Given the description of an element on the screen output the (x, y) to click on. 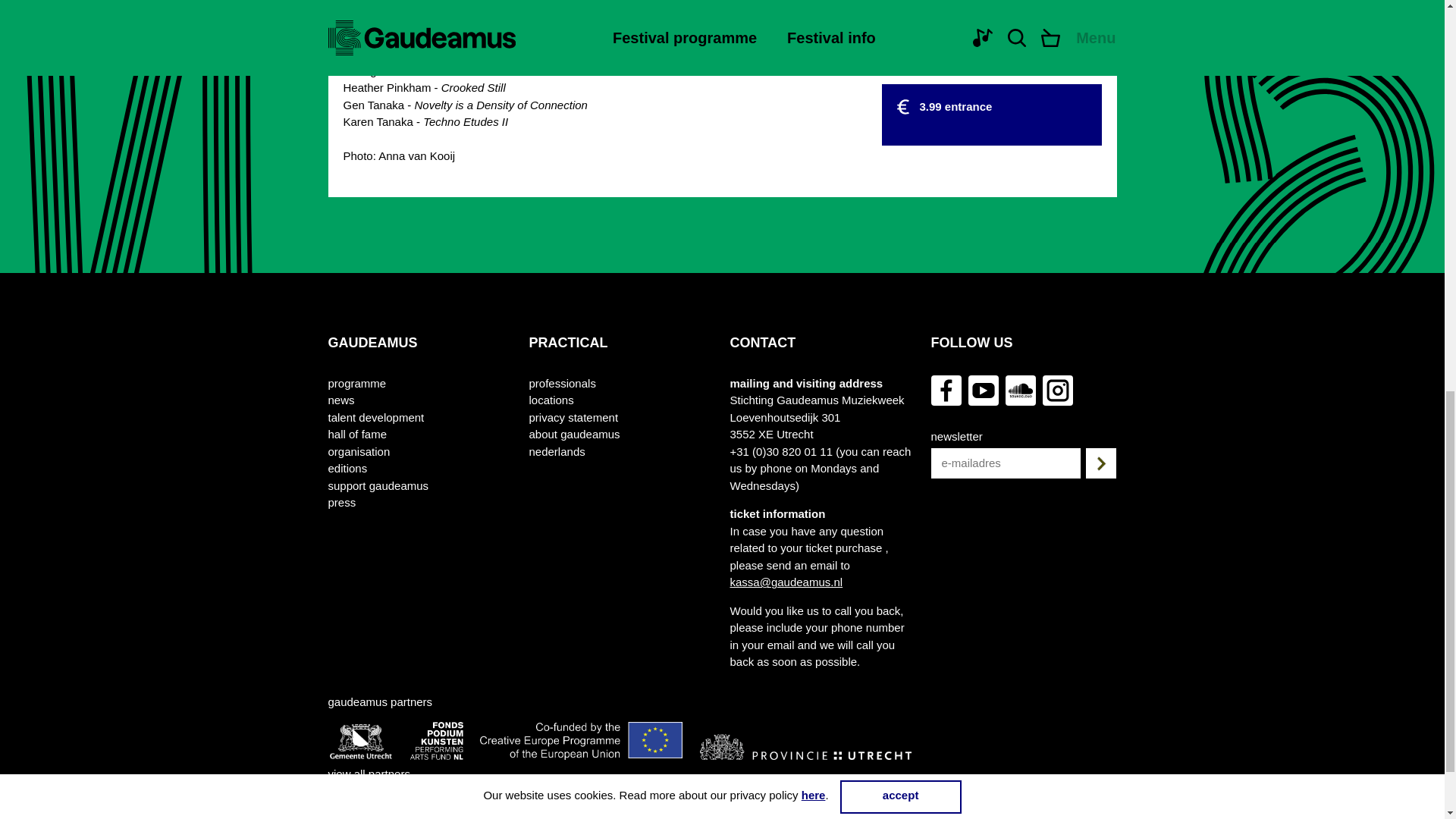
talent development (375, 417)
Gaudeamus on Facebook (946, 390)
organisation (358, 452)
professionals (562, 384)
Gaudeamus on Instagram (1056, 390)
locations (551, 400)
Nederlands (557, 452)
news (340, 400)
press (341, 502)
hall of fame (357, 434)
Gaudeamus on Soundcloud (1020, 390)
editions (346, 468)
programme (356, 384)
Gaudeamus on Youtube (982, 390)
support gaudeamus (377, 486)
